Given the description of an element on the screen output the (x, y) to click on. 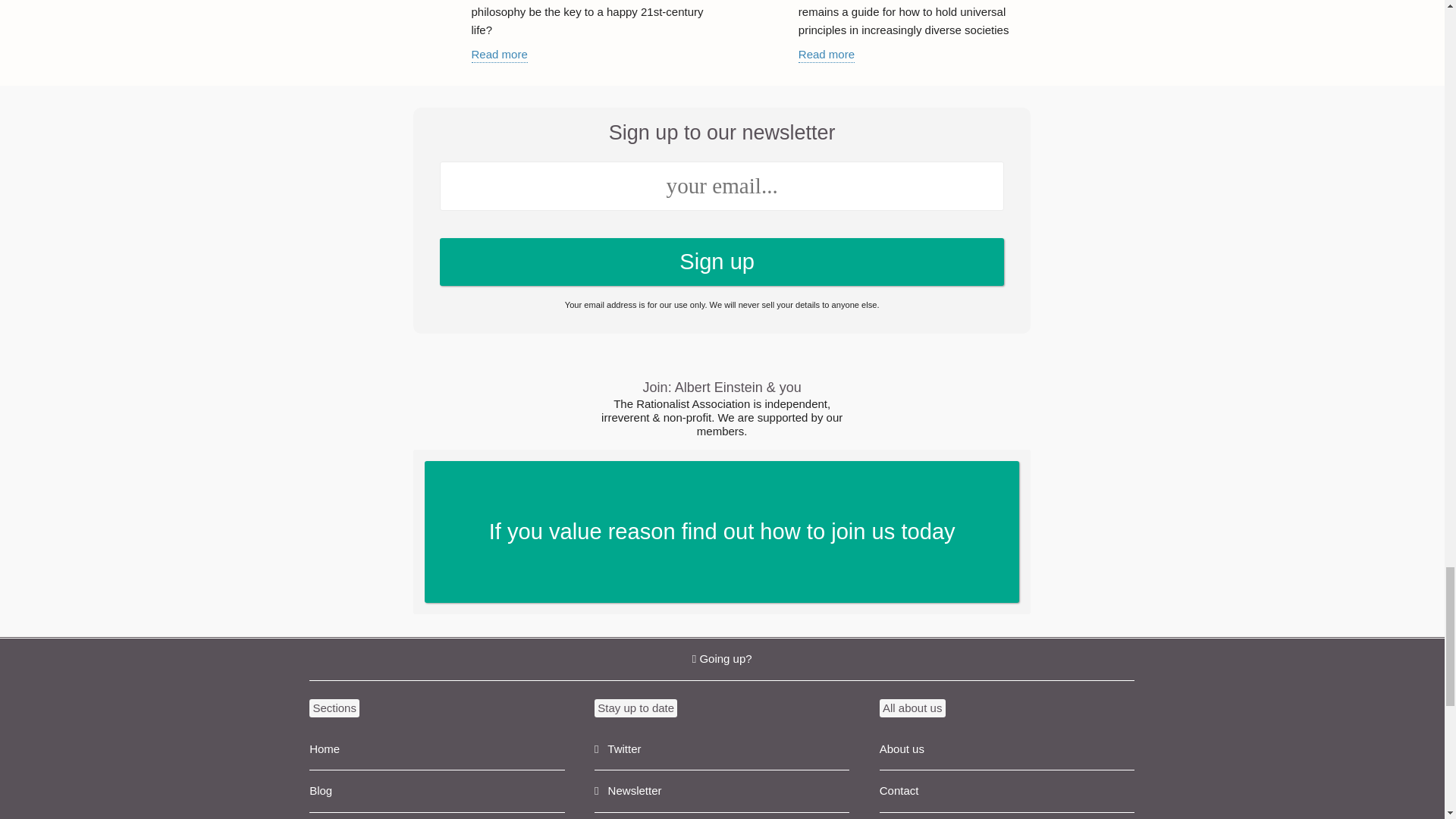
Twitter (721, 749)
Articles (436, 816)
Facebook (721, 816)
About us (1006, 749)
Newsletter (499, 55)
If you value reason find out how to join us today (721, 791)
Home (722, 531)
Blog (436, 749)
Contact (436, 791)
Sign up (825, 55)
Going up? (1006, 791)
